Given the description of an element on the screen output the (x, y) to click on. 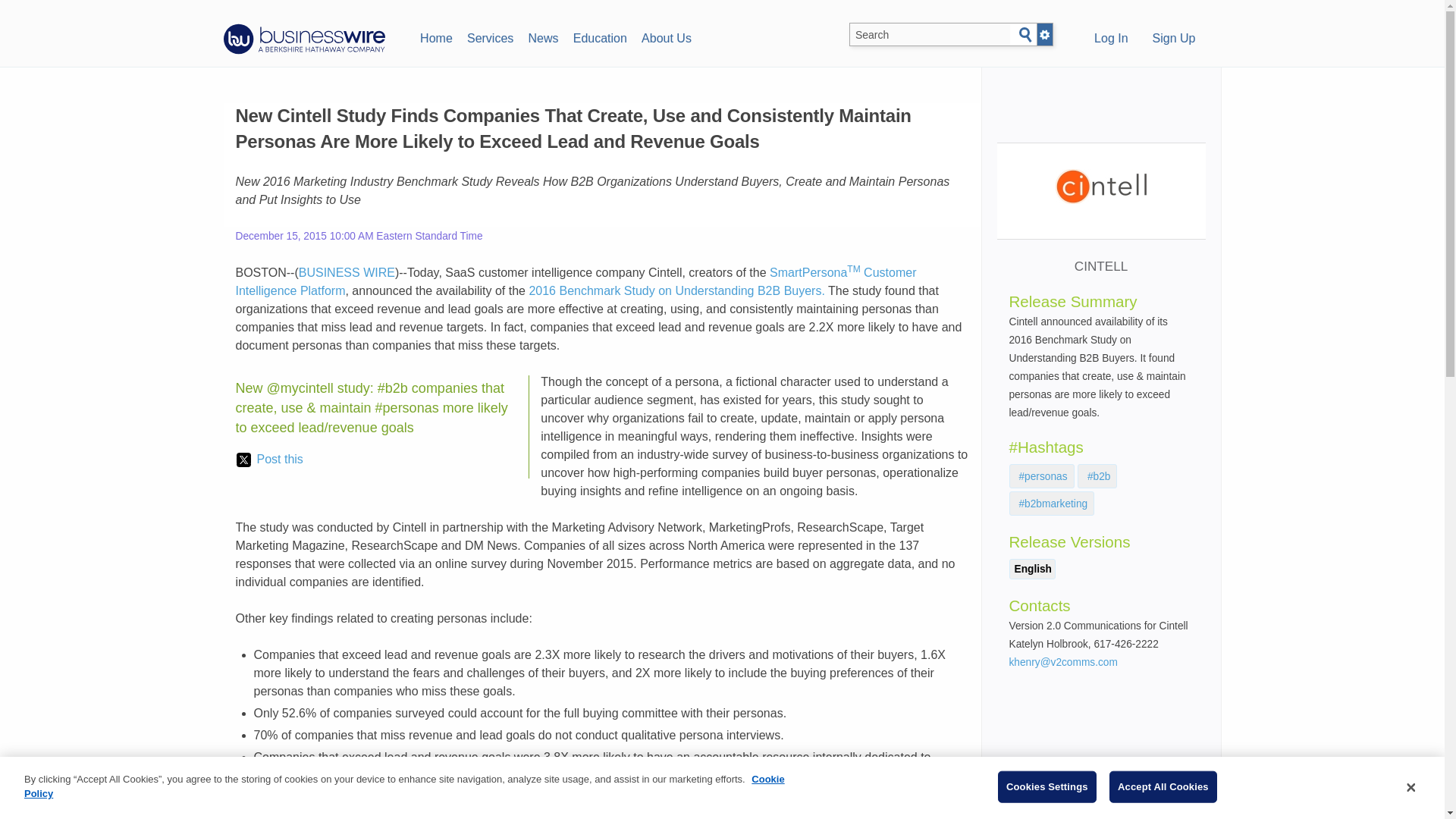
BUSINESS WIRE (346, 272)
Education (599, 36)
Search BusinessWire.com (930, 34)
Post this (269, 458)
Home (436, 36)
News (543, 36)
SmartPersonaTM Customer Intelligence Platform (574, 281)
Search (1025, 34)
Services (490, 36)
2016 Benchmark Study on Understanding B2B Buyers. (676, 290)
About Us (665, 36)
